Given the description of an element on the screen output the (x, y) to click on. 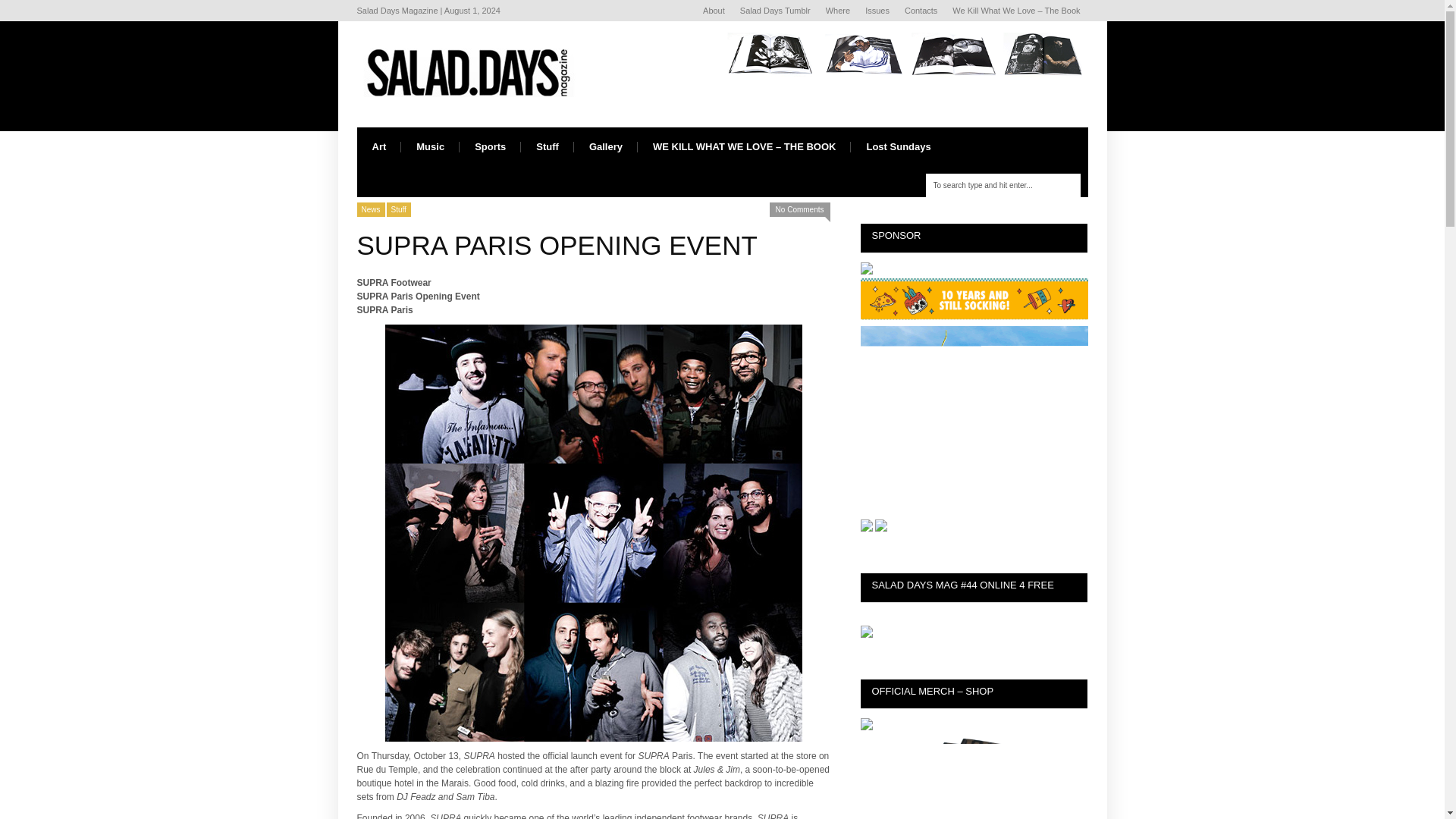
Gallery (605, 146)
Lost Sundays (897, 146)
Art (378, 146)
Issues (876, 10)
Sports (490, 146)
Music (430, 146)
Contacts (920, 10)
To search type and hit enter... (1002, 185)
Stuff (547, 146)
Salad Days Tumblr (775, 10)
Where (837, 10)
About (713, 10)
